Given the description of an element on the screen output the (x, y) to click on. 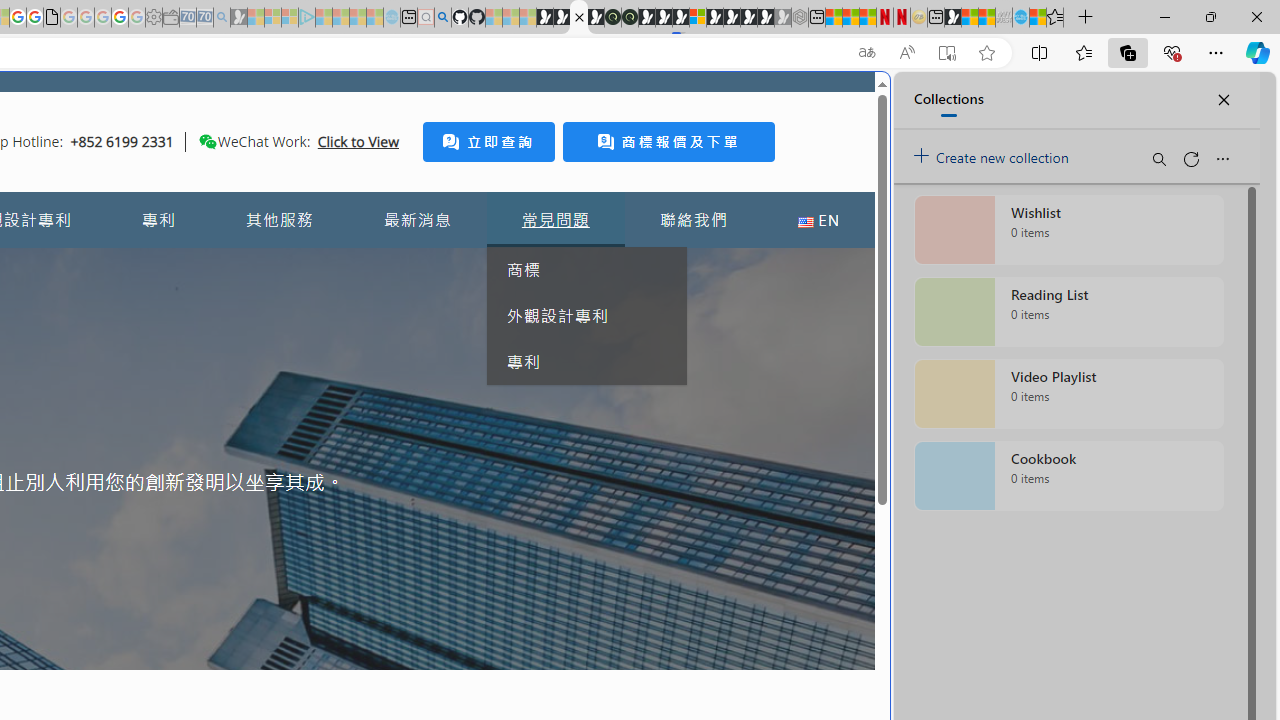
Home | Sky Blue Bikes - Sky Blue Bikes (687, 426)
Class: desktop (207, 141)
